Given the description of an element on the screen output the (x, y) to click on. 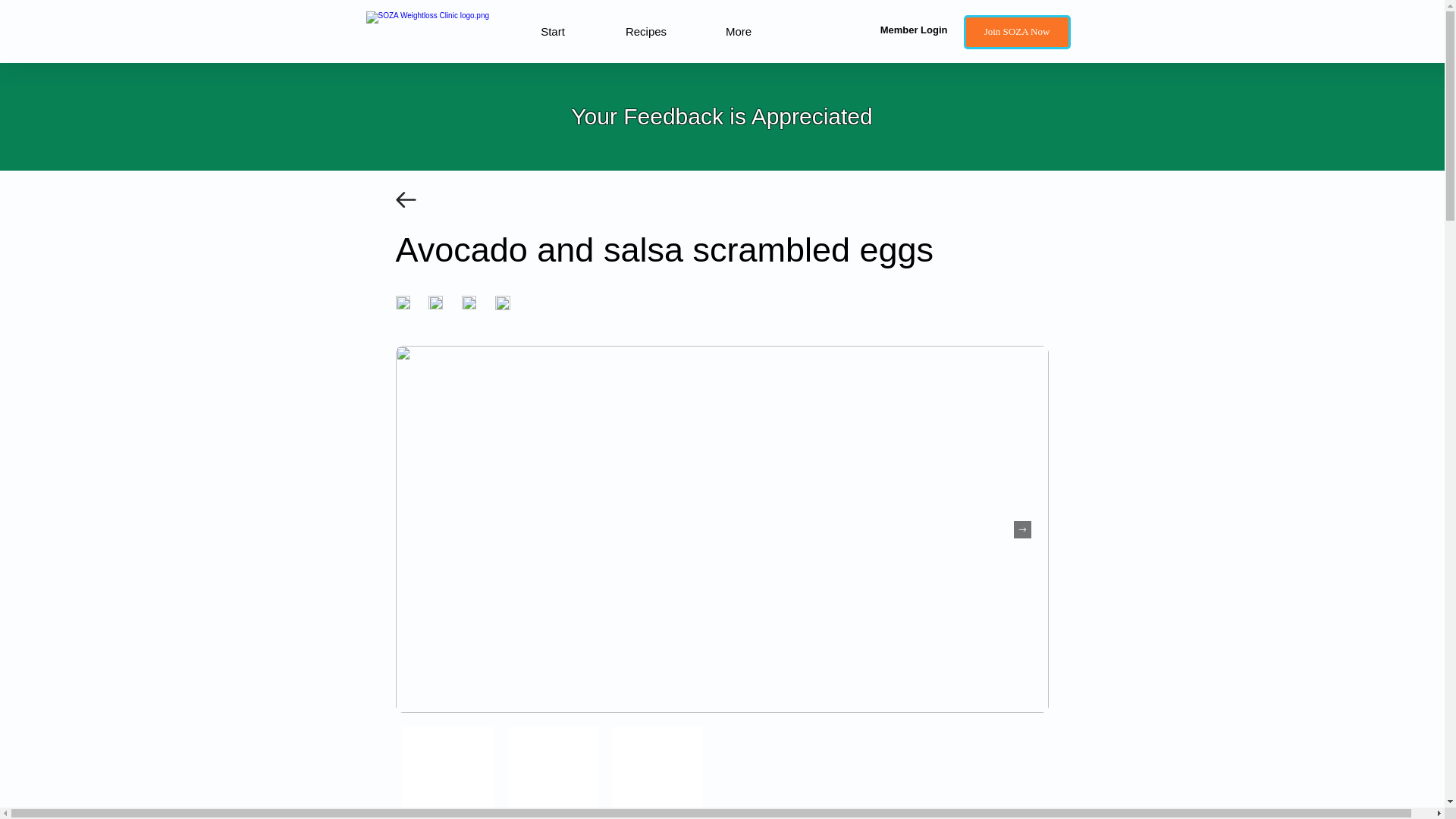
Member Login (899, 30)
Recipes (644, 31)
Start (553, 31)
Join SOZA Now (1016, 32)
